Given the description of an element on the screen output the (x, y) to click on. 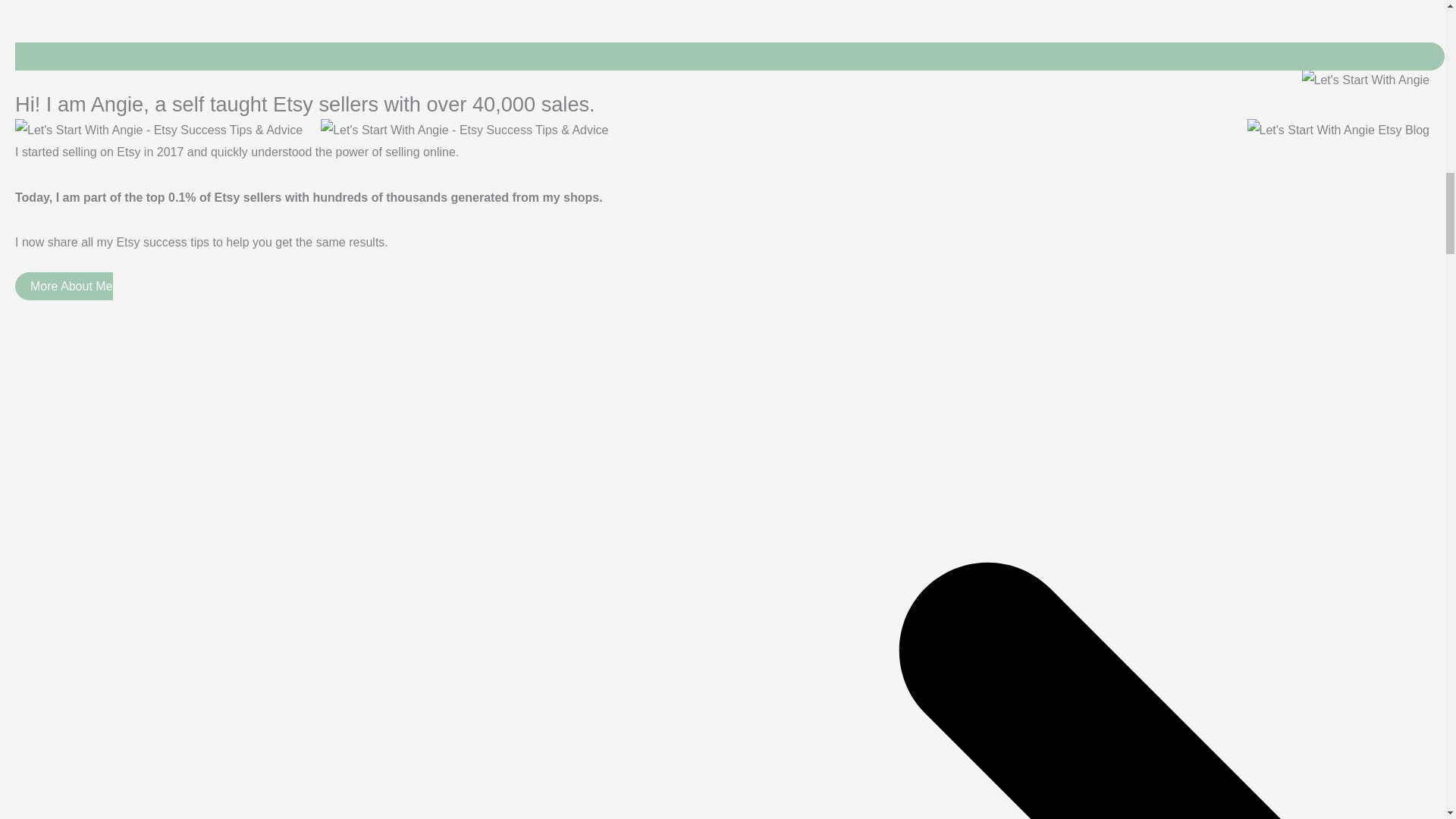
View Course (729, 35)
